Given the description of an element on the screen output the (x, y) to click on. 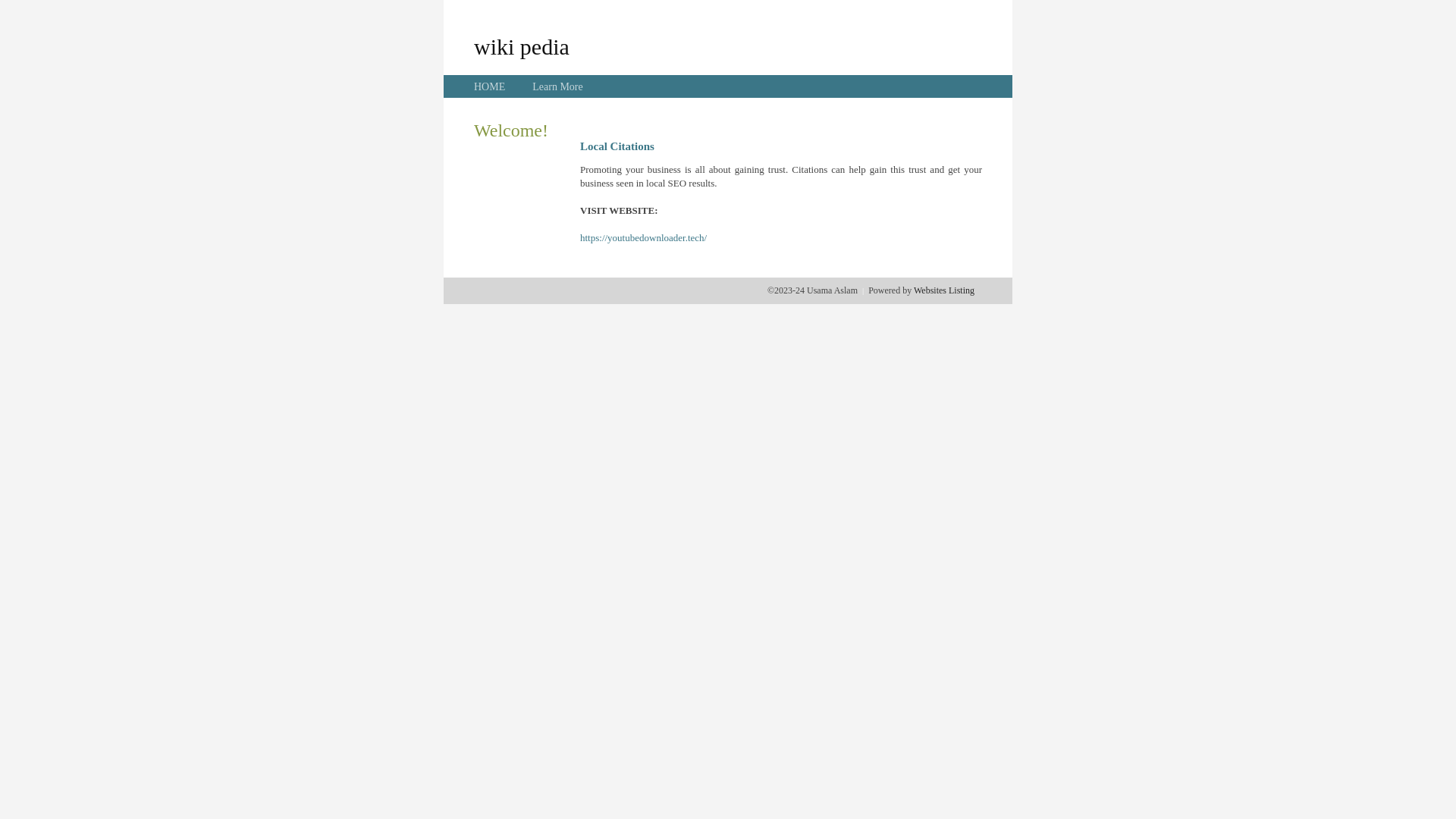
https://youtubedownloader.tech/ Element type: text (643, 237)
Websites Listing Element type: text (943, 290)
HOME Element type: text (489, 86)
Learn More Element type: text (557, 86)
wiki pedia Element type: text (521, 46)
